Given the description of an element on the screen output the (x, y) to click on. 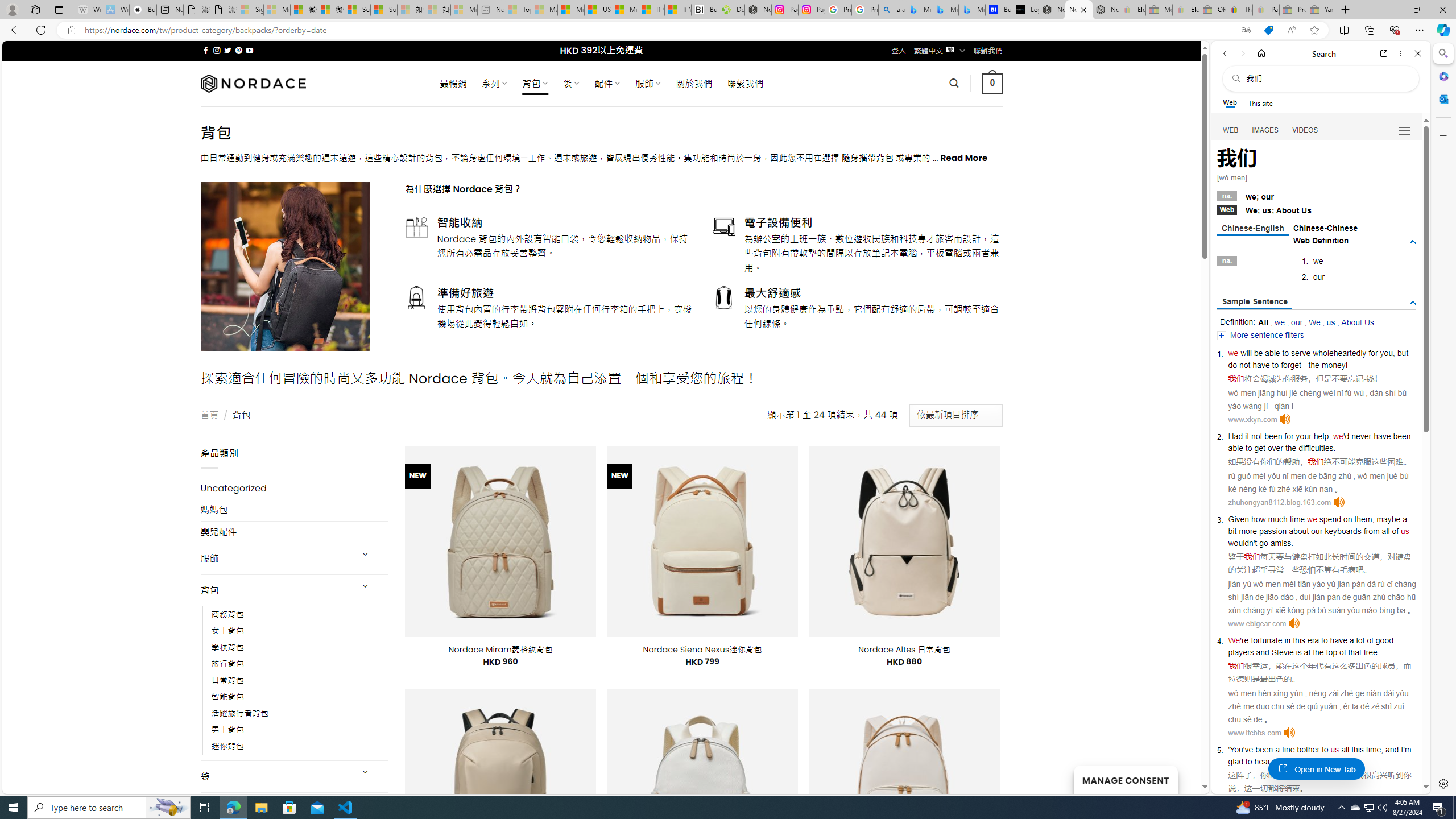
Uncategorized (294, 488)
' (1228, 749)
but (1402, 352)
